Given the description of an element on the screen output the (x, y) to click on. 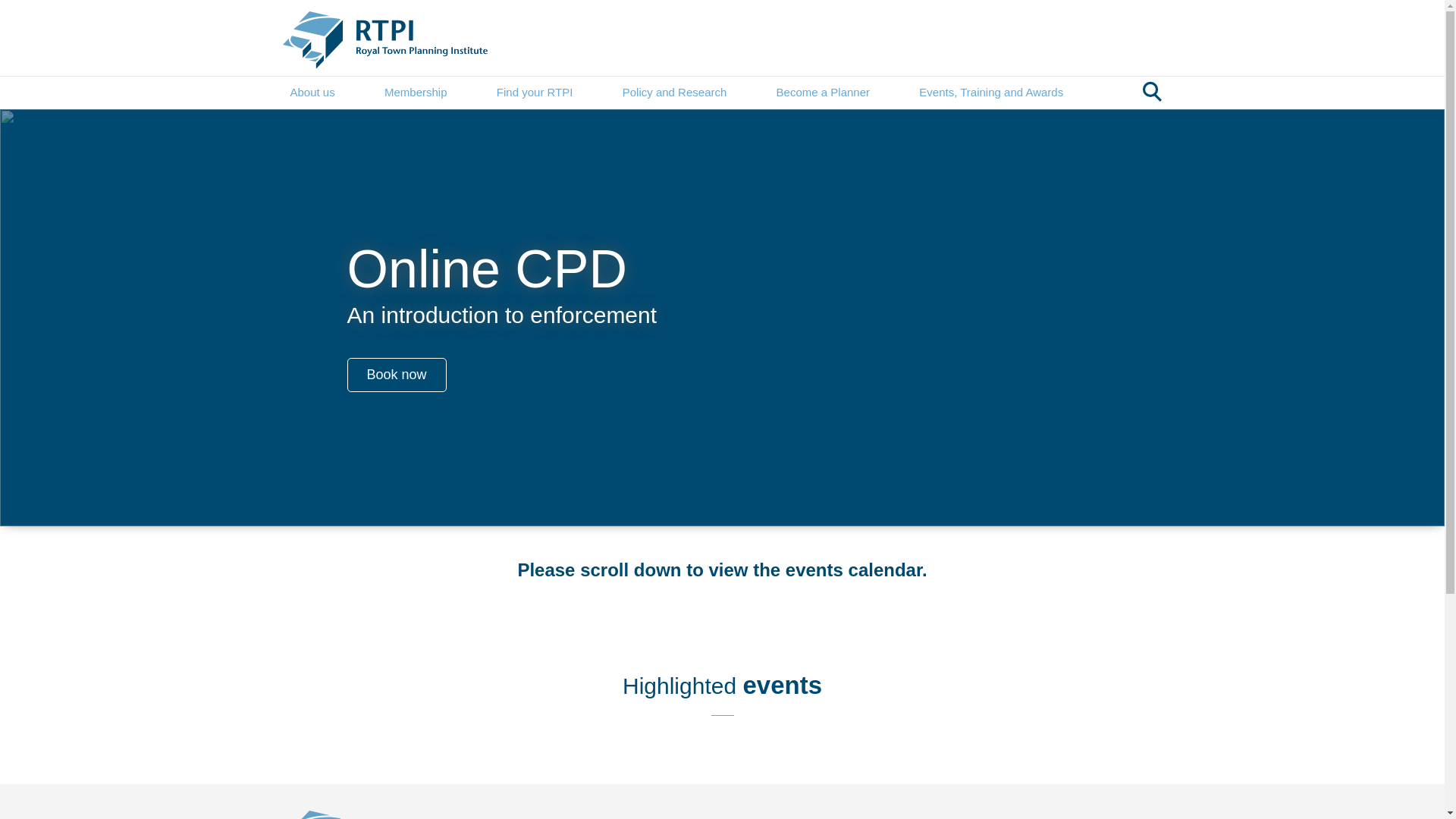
About us (311, 92)
Membership (415, 92)
Policy, Practice, and Research (674, 92)
Find your RTPI (534, 92)
Find your RTPI (534, 92)
Become a planner (822, 92)
Events, Training and Awards (990, 92)
Membership (415, 92)
About us (311, 92)
